Given the description of an element on the screen output the (x, y) to click on. 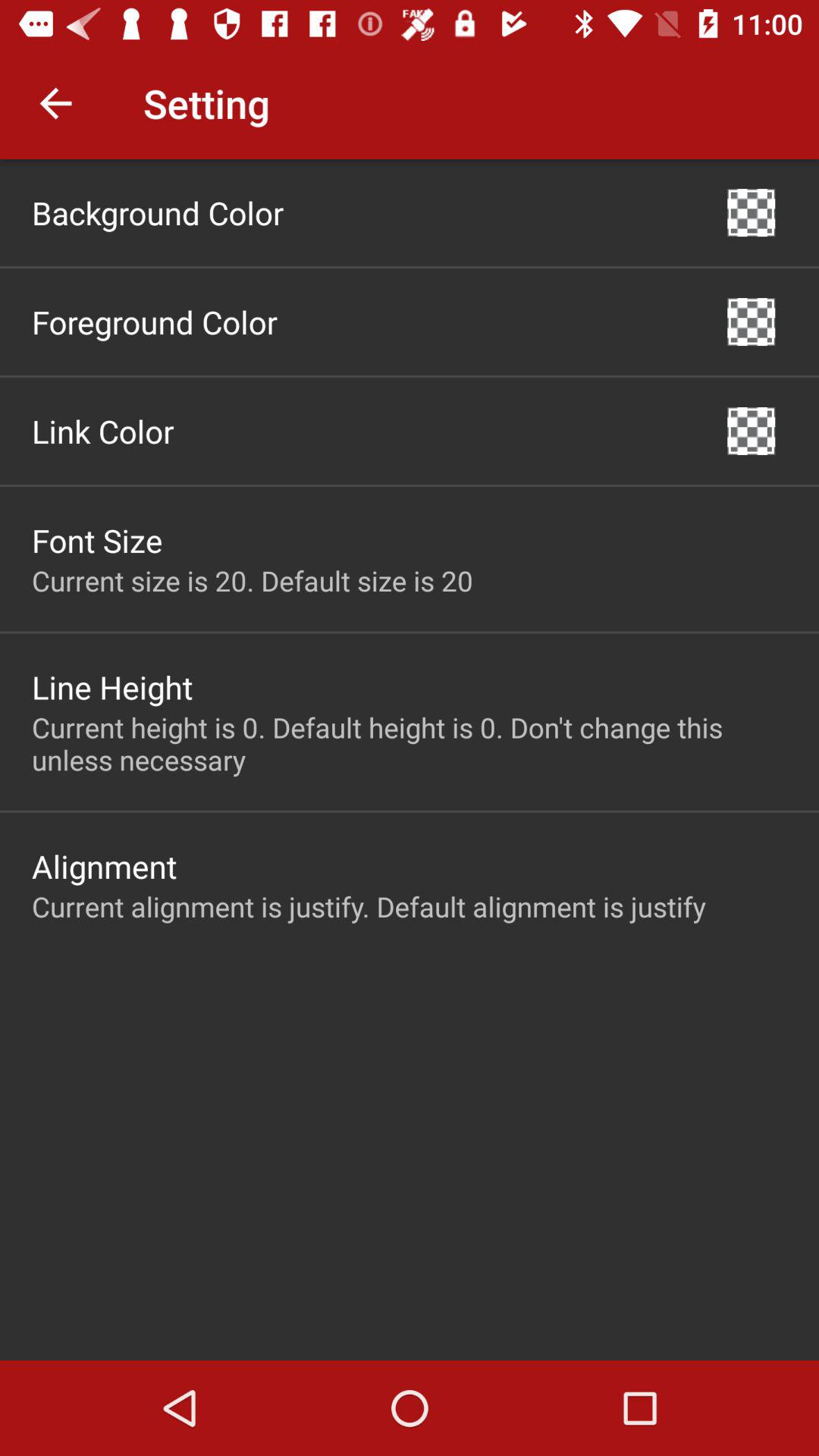
press the foreground color (154, 321)
